Given the description of an element on the screen output the (x, y) to click on. 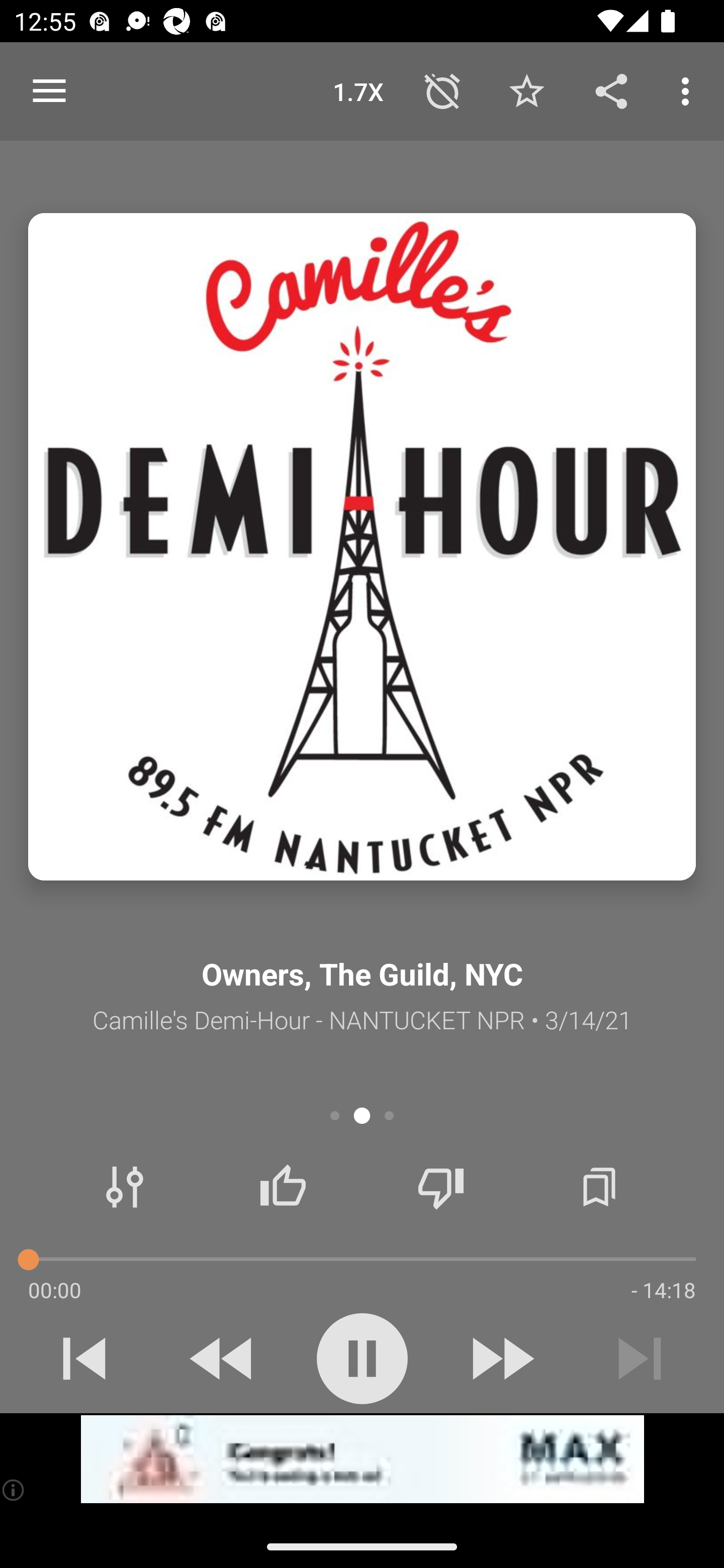
Open navigation sidebar (49, 91)
1.7X (357, 90)
Sleep Timer (442, 90)
Favorite (526, 90)
Share (611, 90)
More options (688, 90)
Episode description (361, 547)
Audio effects (124, 1186)
Thumbs up (283, 1186)
Thumbs down (440, 1186)
Chapters / Bookmarks (598, 1186)
- 14:18 (663, 1289)
Previous track (84, 1358)
Skip 15s backward (222, 1358)
Play / Pause (362, 1358)
Skip 30s forward (500, 1358)
Next track (639, 1358)
app-monetization (362, 1459)
(i) (14, 1489)
